Given the description of an element on the screen output the (x, y) to click on. 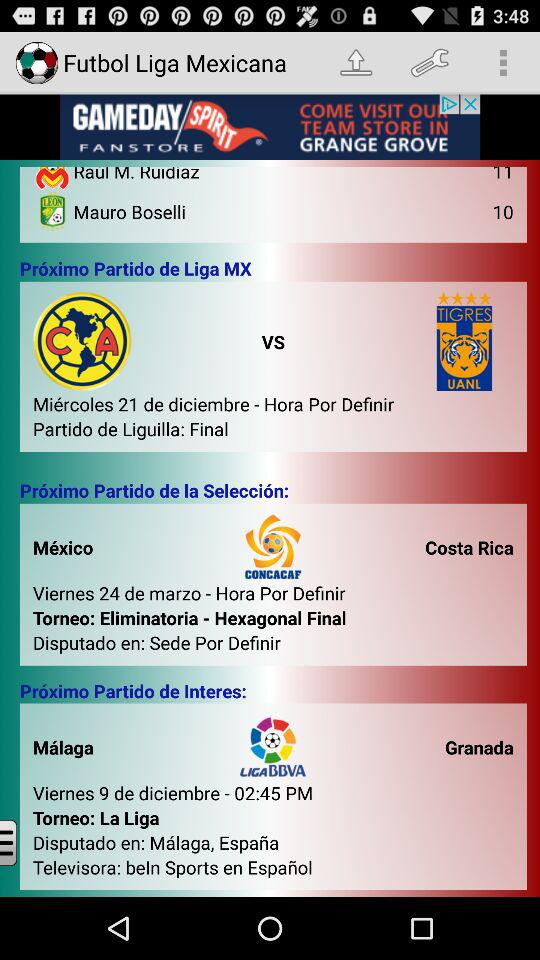
gives page options (24, 842)
